Given the description of an element on the screen output the (x, y) to click on. 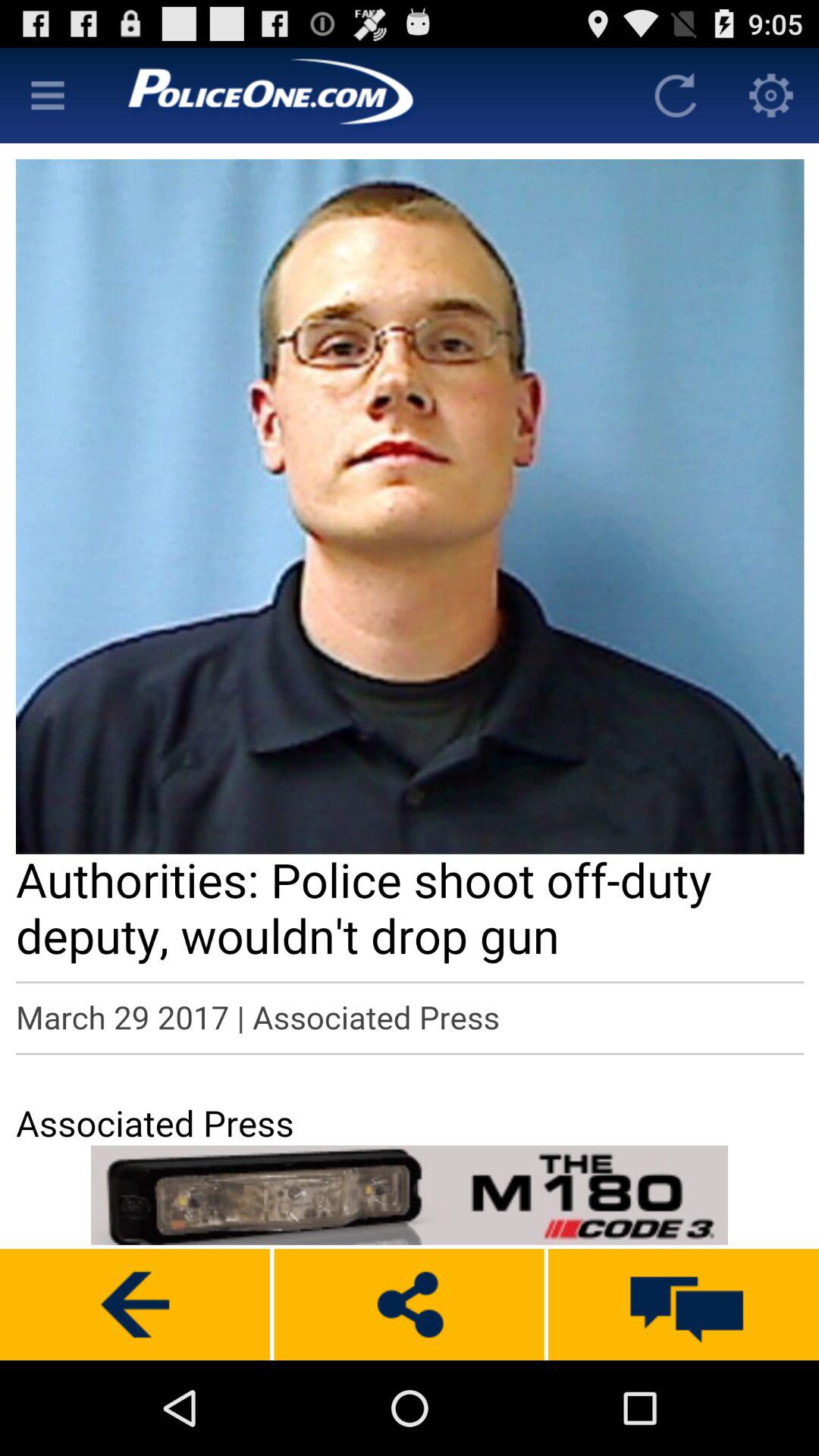
logo and main screen (361, 95)
